Given the description of an element on the screen output the (x, y) to click on. 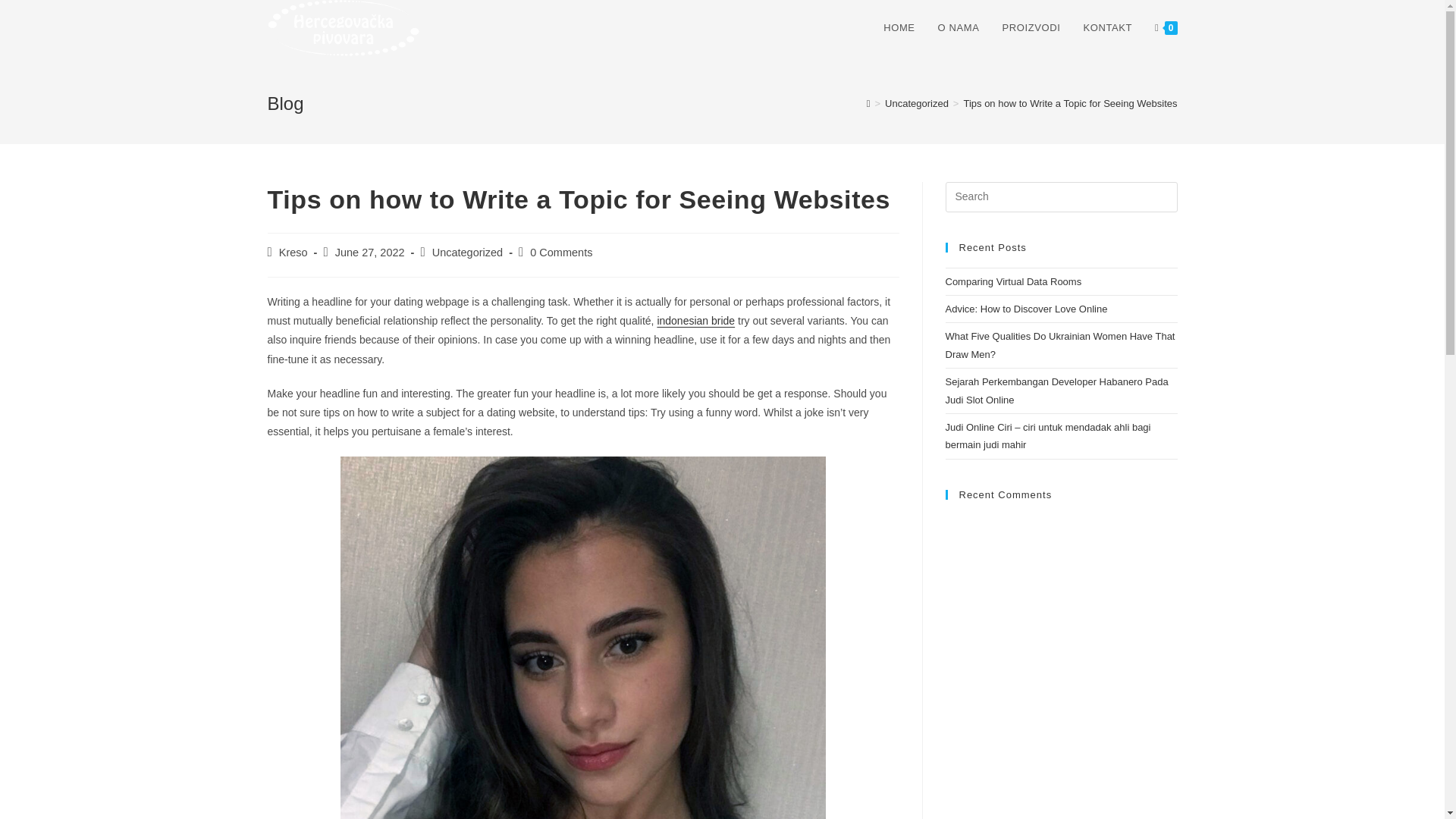
0 Comments (560, 252)
Uncategorized (917, 102)
O NAMA (958, 28)
Posts by Kreso (293, 252)
Kreso (293, 252)
KONTAKT (1106, 28)
Uncategorized (467, 252)
PROIZVODI (1030, 28)
Advice: How to Discover Love Online (1025, 308)
